Given the description of an element on the screen output the (x, y) to click on. 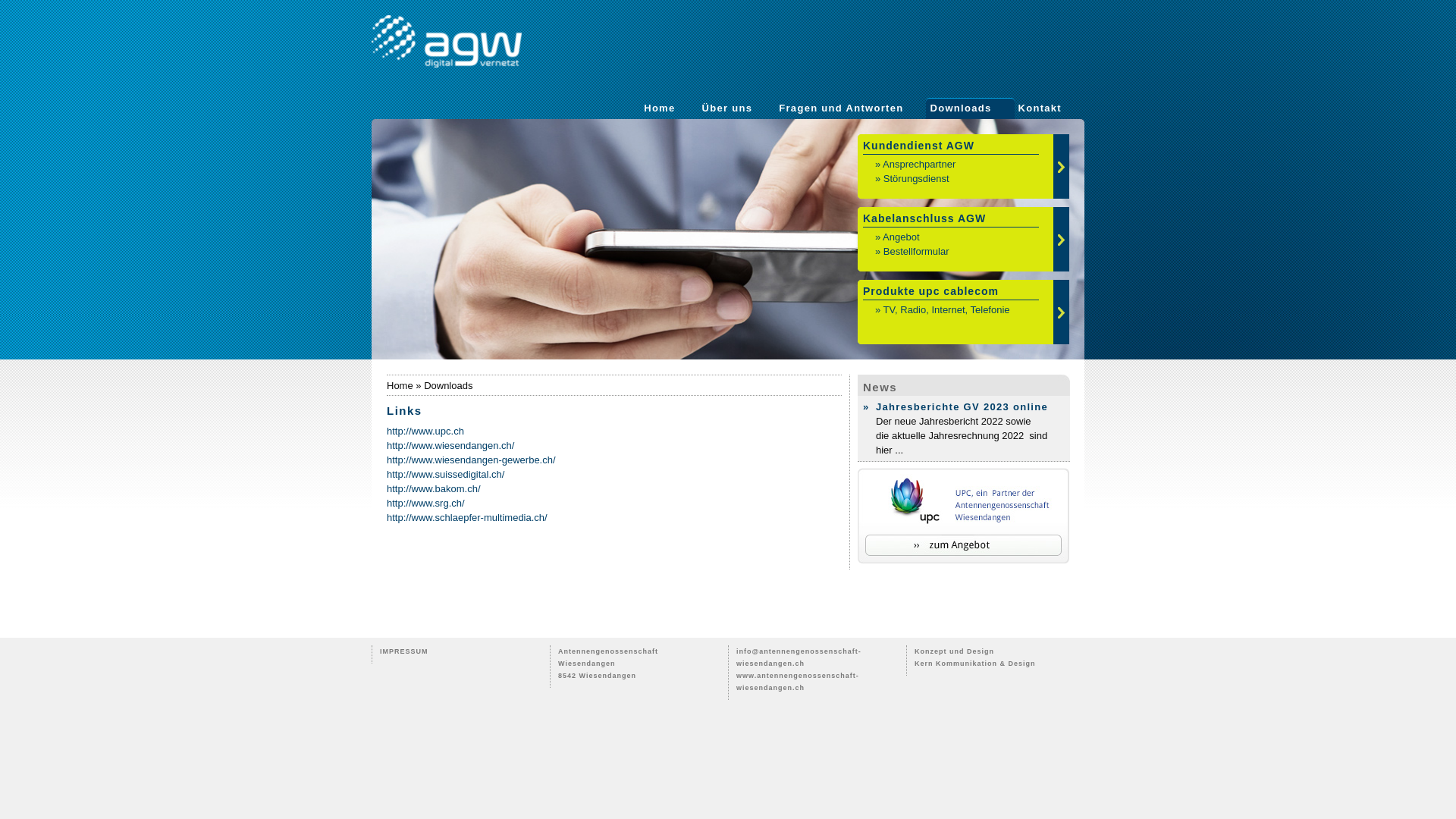
Kern Kommunikation & Design Element type: text (974, 663)
AGF, ein Partner von upc cablecom Element type: hover (963, 515)
http://www.bakom.ch/ Element type: text (433, 488)
Jahresberichte GV 2023 online Element type: text (961, 406)
Kontakt Element type: text (1039, 107)
http://www.upc.ch Element type: text (425, 430)
http://www.wiesendangen-gewerbe.ch/ Element type: text (470, 459)
info@antennengenossenschaft-wiesendangen.ch Element type: text (798, 657)
Fragen und Antworten Element type: text (840, 107)
http://www.srg.ch/ Element type: text (425, 502)
http://www.schlaepfer-multimedia.ch/ Element type: text (466, 517)
Home Element type: text (658, 107)
http://www.suissedigital.ch/ Element type: text (445, 474)
http://www.wiesendangen.ch/ Element type: text (450, 445)
Downloads Element type: text (960, 107)
www.antennengenossenschaft-wiesendangen.ch Element type: text (797, 681)
Links Element type: hover (727, 239)
